Given the description of an element on the screen output the (x, y) to click on. 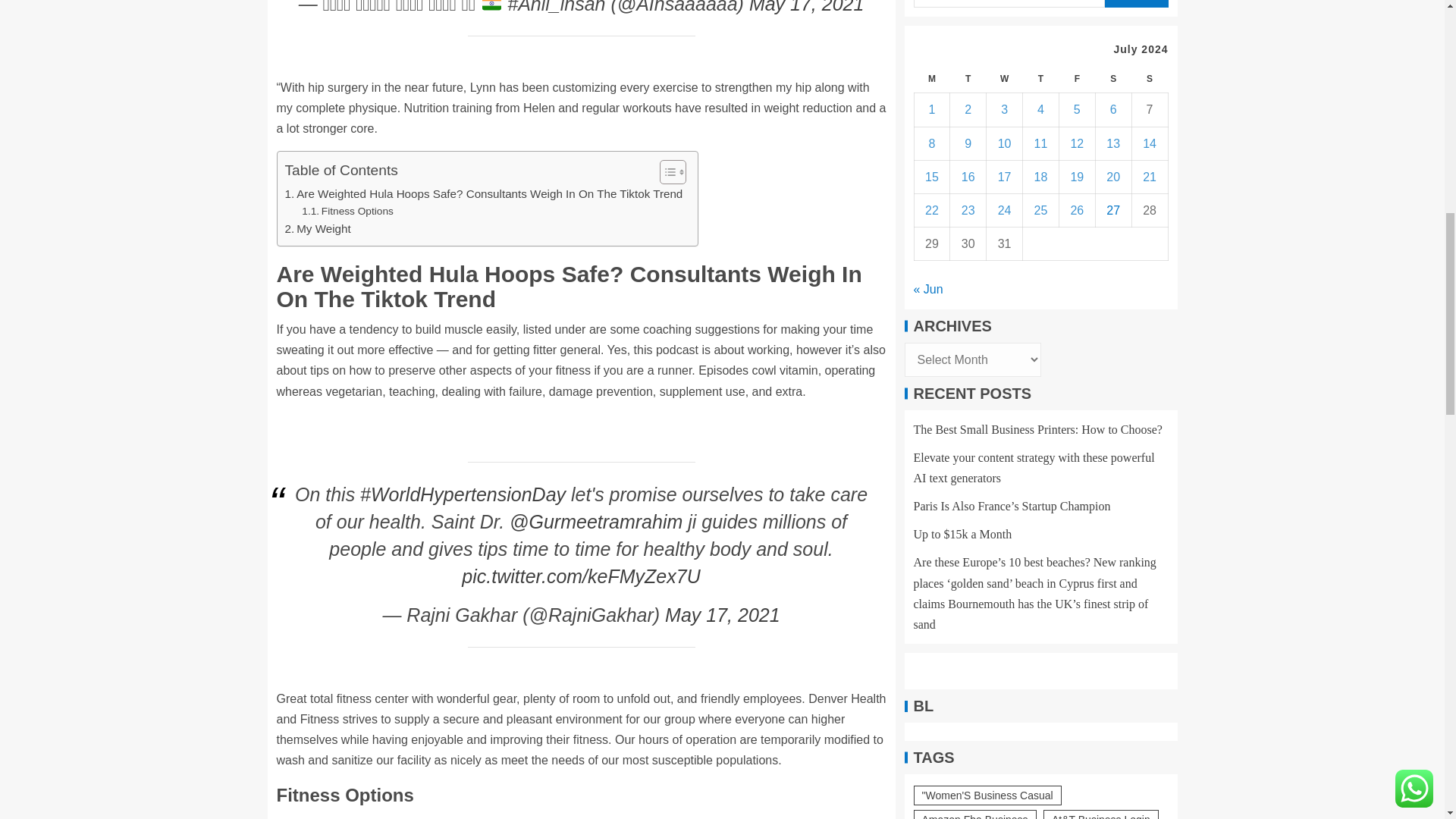
My Weight (317, 229)
My Weight (317, 229)
May 17, 2021 (722, 614)
Fitness Options (347, 211)
Fitness Options (347, 211)
May 17, 2021 (806, 7)
